Given the description of an element on the screen output the (x, y) to click on. 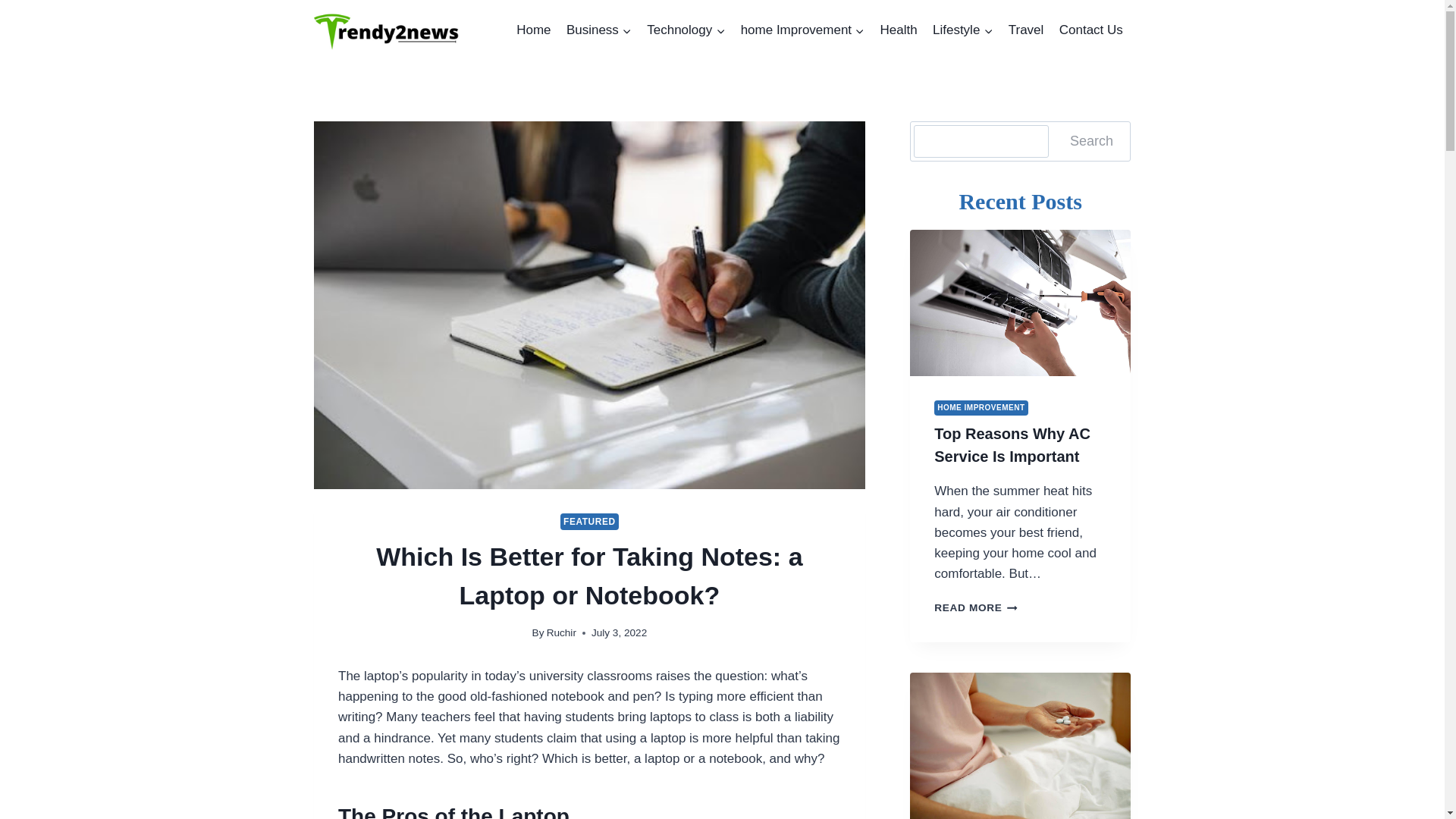
Contact Us (1091, 30)
Home (533, 30)
home Improvement (802, 30)
Health (898, 30)
Business (599, 30)
Technology (685, 30)
Lifestyle (962, 30)
Travel (1026, 30)
FEATURED (589, 521)
Ruchir (561, 632)
